Given the description of an element on the screen output the (x, y) to click on. 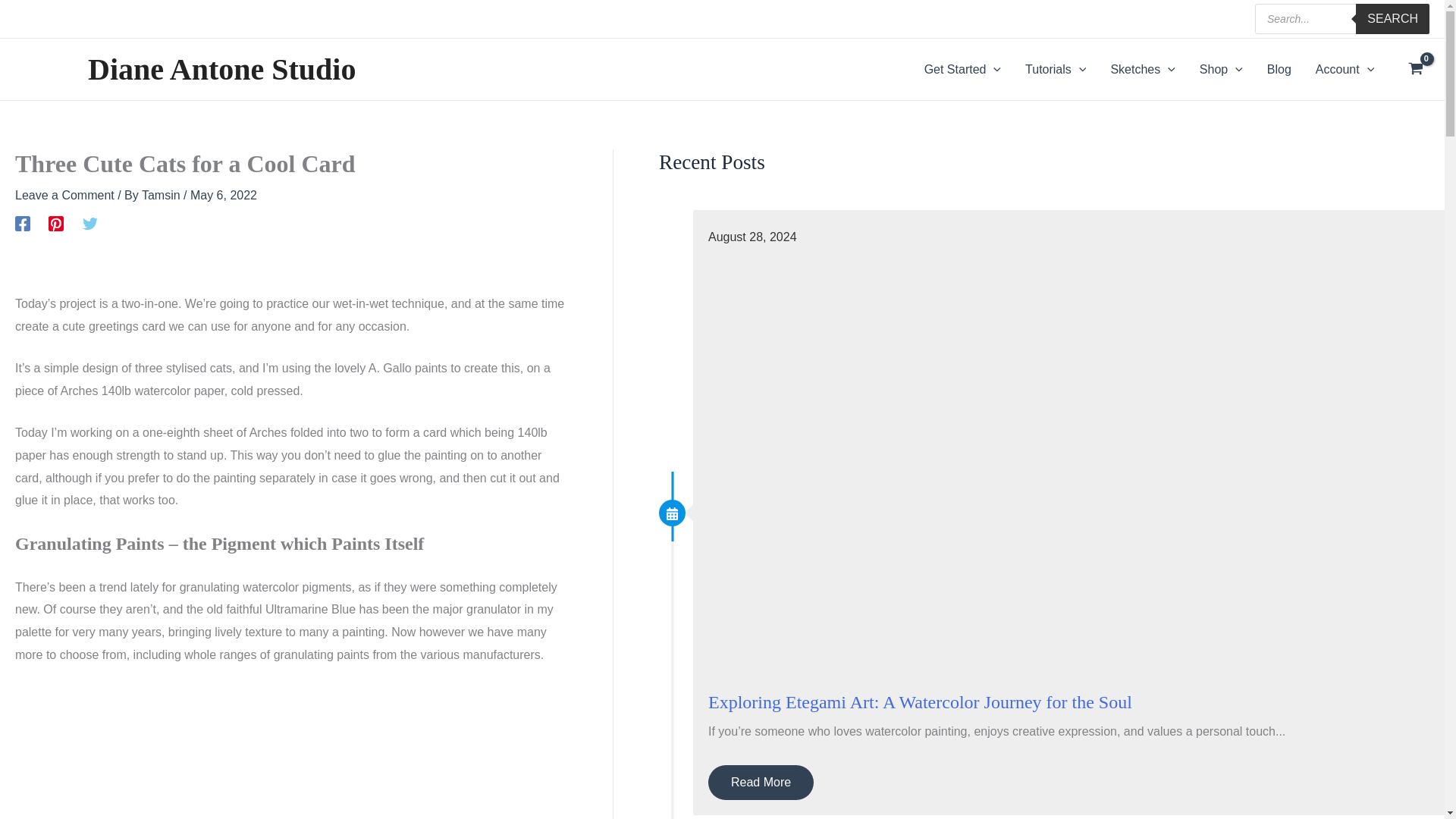
View all posts by Tamsin (162, 195)
Tutorials (1055, 69)
Diane Antone Studio (221, 69)
SEARCH (1392, 19)
Get Started (962, 69)
